Given the description of an element on the screen output the (x, y) to click on. 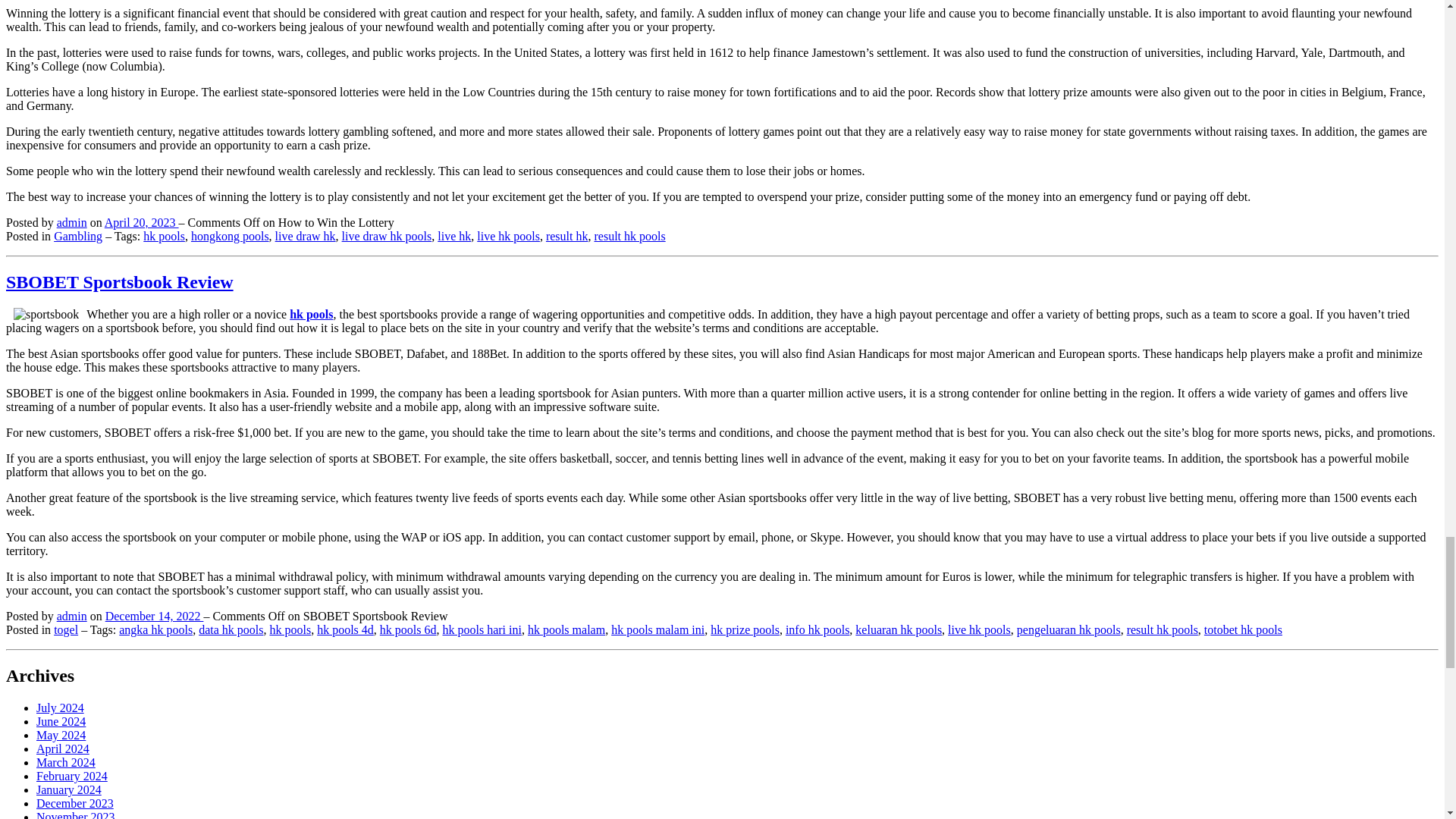
hk pools (163, 236)
pengeluaran hk pools (1068, 629)
SBOBET Sportsbook Review (118, 281)
hk pools malam (566, 629)
hongkong pools (229, 236)
April 20, 2023 (141, 222)
totobet hk pools (1243, 629)
admin (71, 222)
hk pools malam ini (657, 629)
December 14, 2022 (153, 615)
info hk pools (817, 629)
live draw hk (305, 236)
angka hk pools (155, 629)
result hk (567, 236)
hk pools (290, 629)
